Given the description of an element on the screen output the (x, y) to click on. 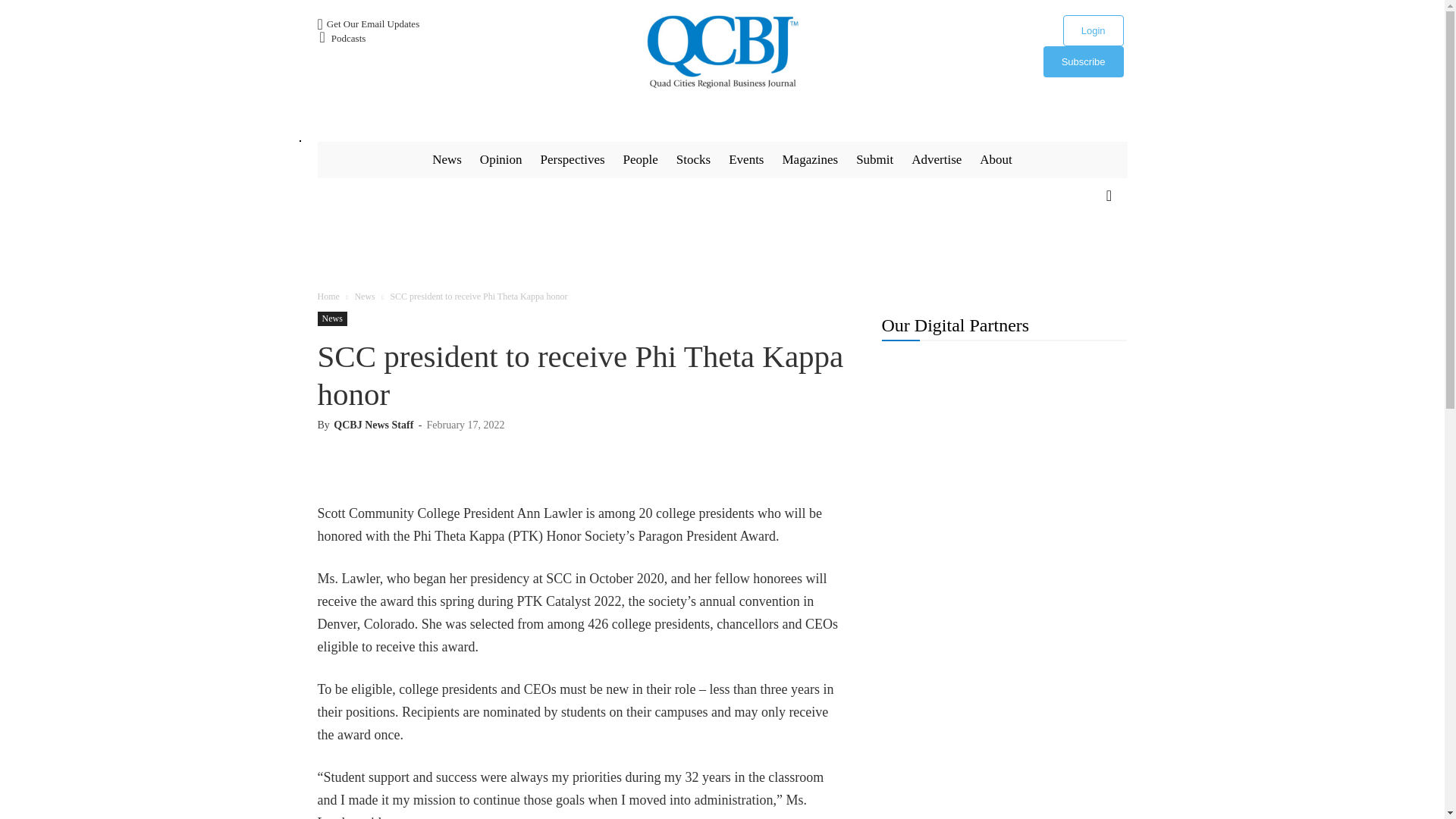
Business News for Quad Cities (721, 51)
Login (1093, 30)
Business News for Quad Cities (722, 51)
Subscribe (1083, 60)
